Given the description of an element on the screen output the (x, y) to click on. 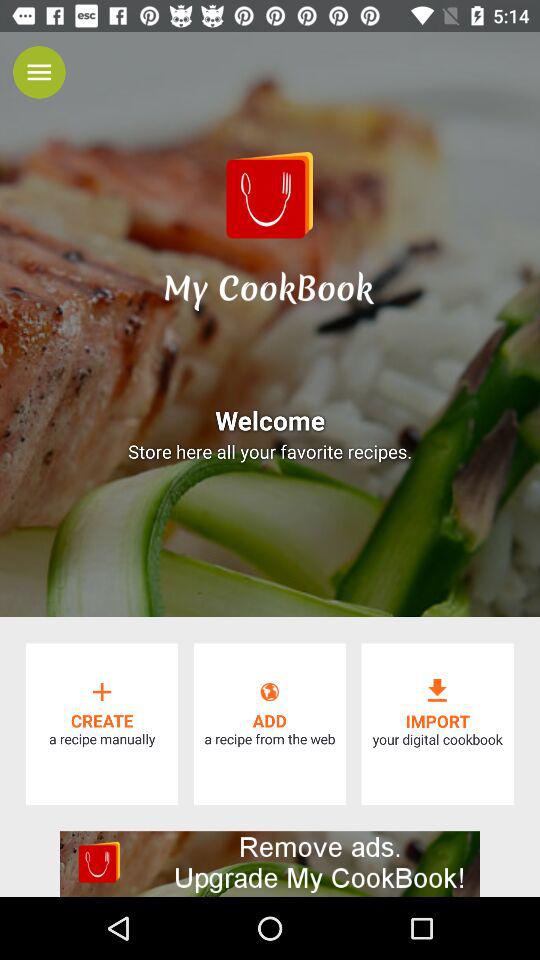
menu (39, 72)
